Given the description of an element on the screen output the (x, y) to click on. 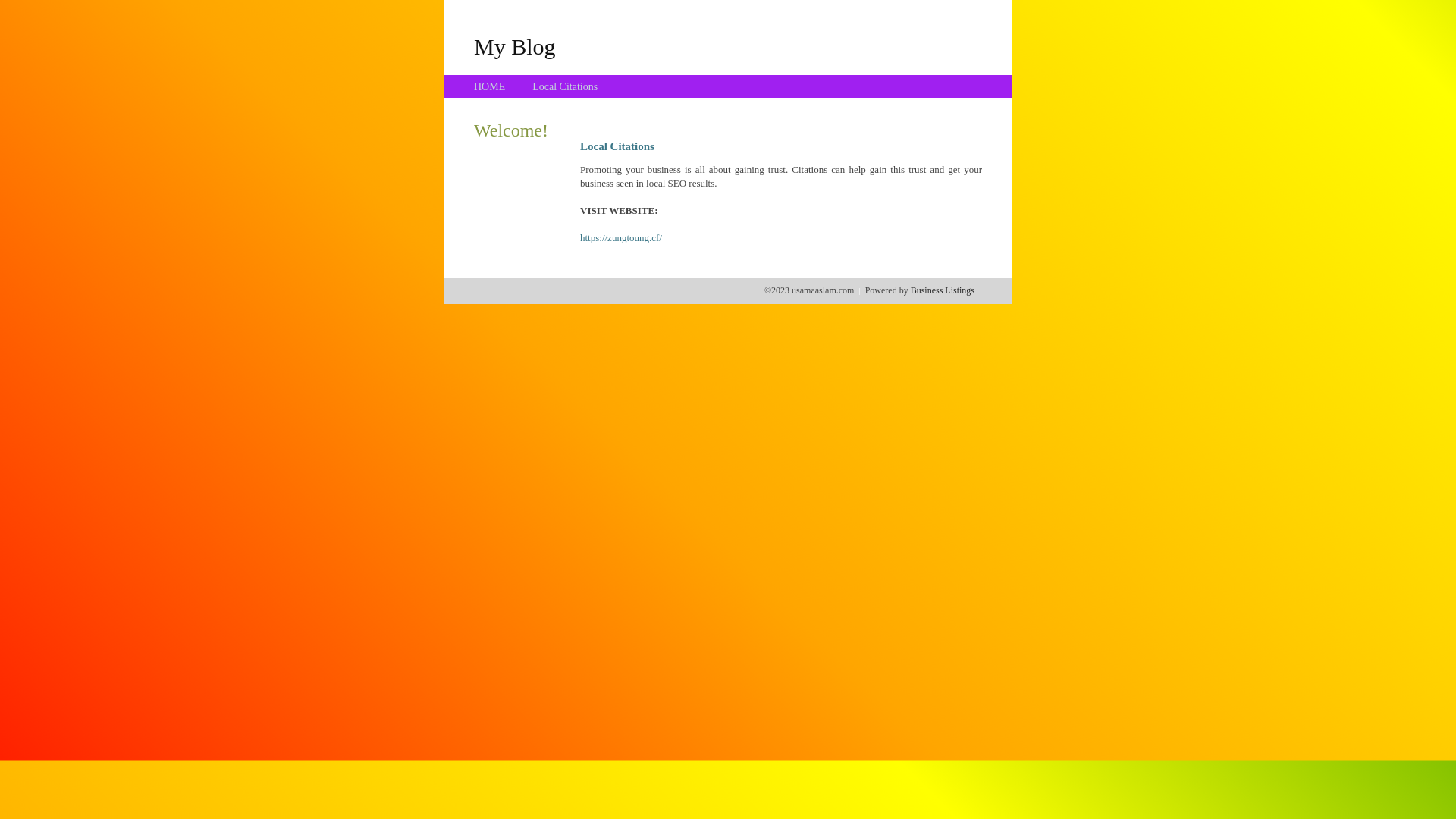
My Blog Element type: text (514, 46)
HOME Element type: text (489, 86)
Local Citations Element type: text (564, 86)
https://zungtoung.cf/ Element type: text (621, 237)
Business Listings Element type: text (942, 290)
